Given the description of an element on the screen output the (x, y) to click on. 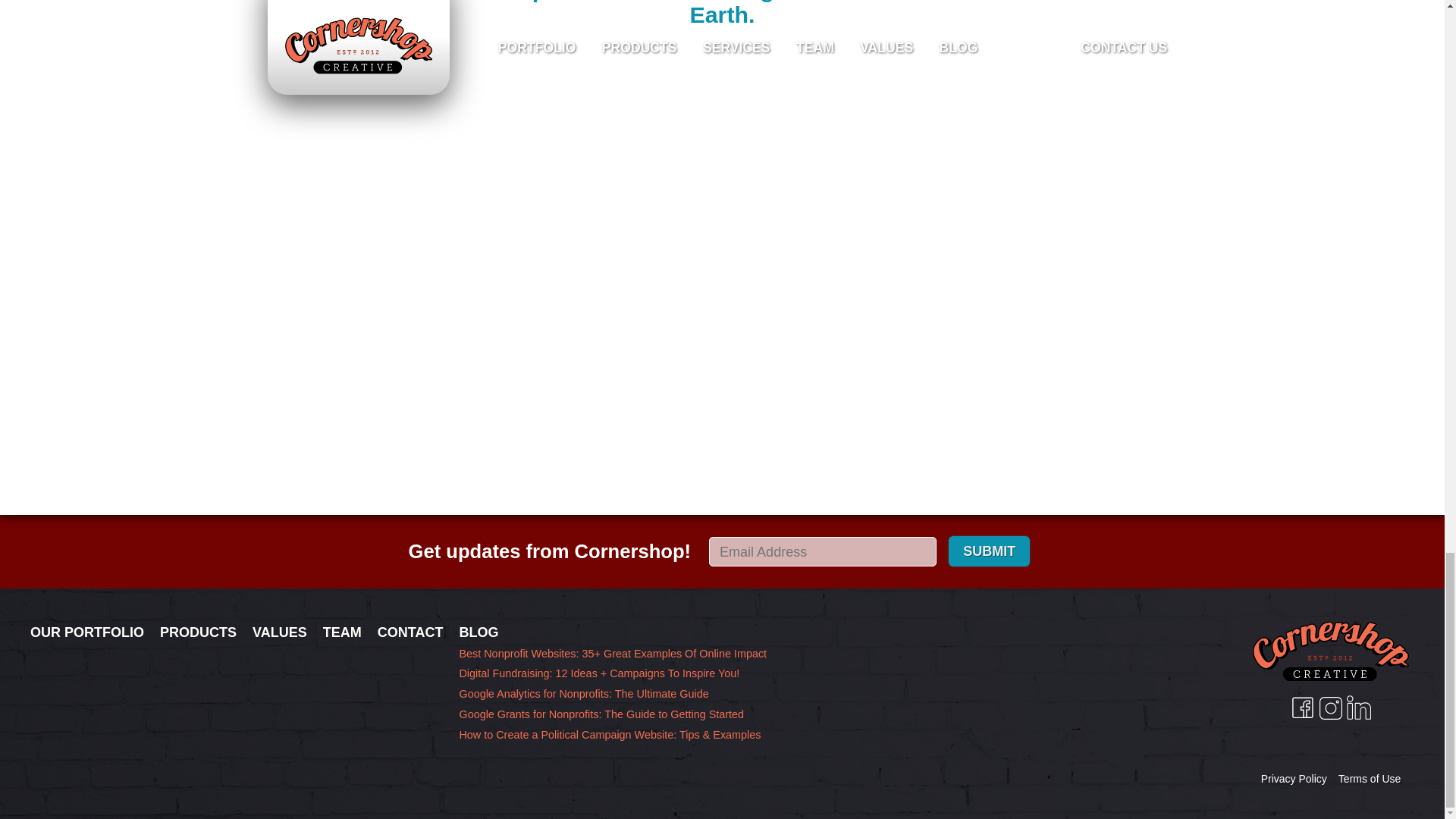
Cornershop Creative (1330, 651)
Submit (989, 551)
Instagram opens in new tab. (1330, 707)
Multistep donation form design with Friends of the Earth. (721, 13)
LinkedIn opens in new tab. (1358, 707)
Facebook opens in new tab. (1302, 707)
